Given the description of an element on the screen output the (x, y) to click on. 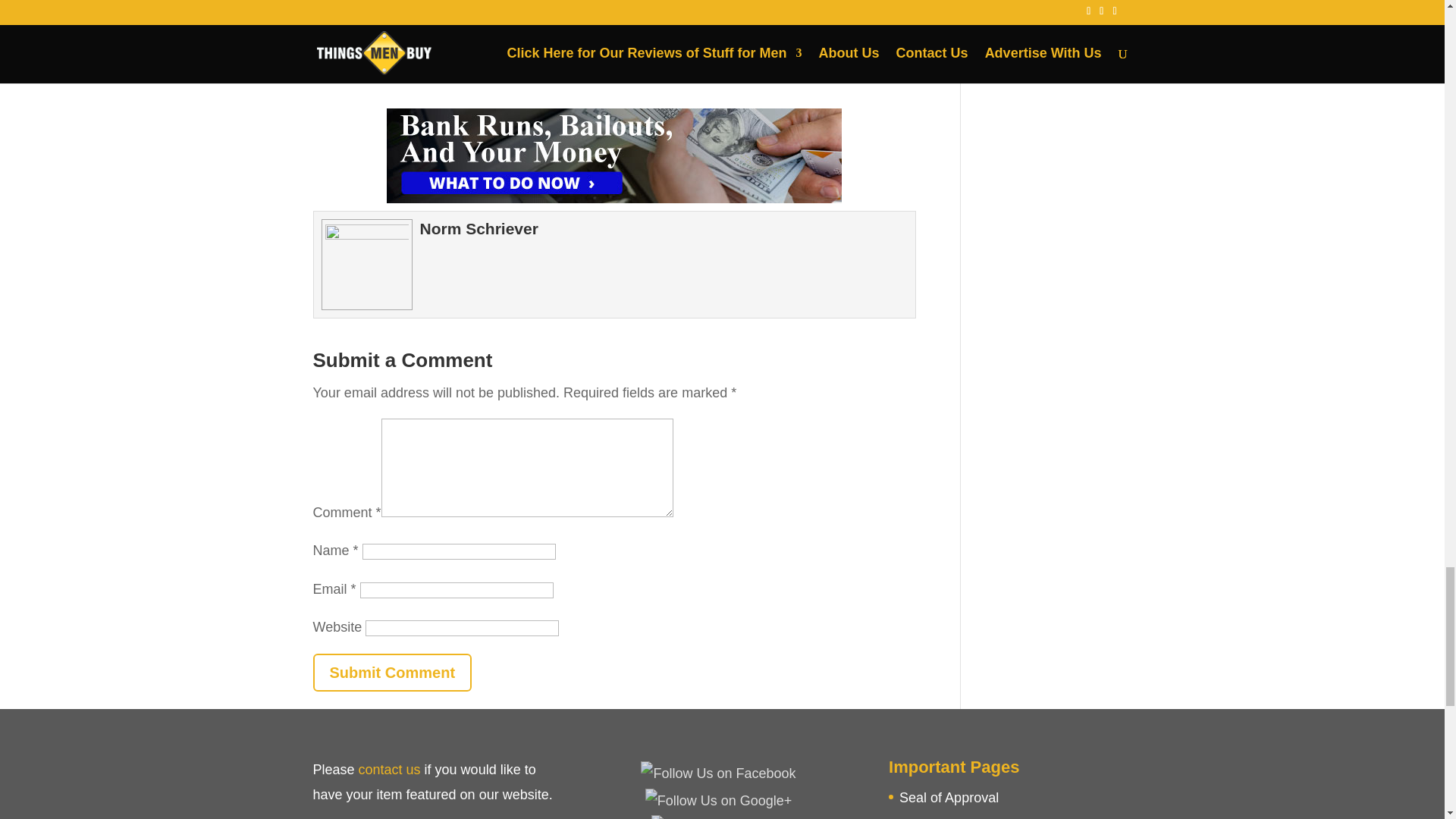
Follow Us on Facebook (717, 773)
Costa Rica Guys Getaway (406, 53)
Follow Us on Twitter (718, 816)
Norm Schriever (479, 228)
Guys Weekend in Chicago Things to Do (447, 33)
Panama Guys Getaway (398, 73)
Submit Comment (392, 672)
Guys Weekend in Miami Things to Do (440, 14)
